Given the description of an element on the screen output the (x, y) to click on. 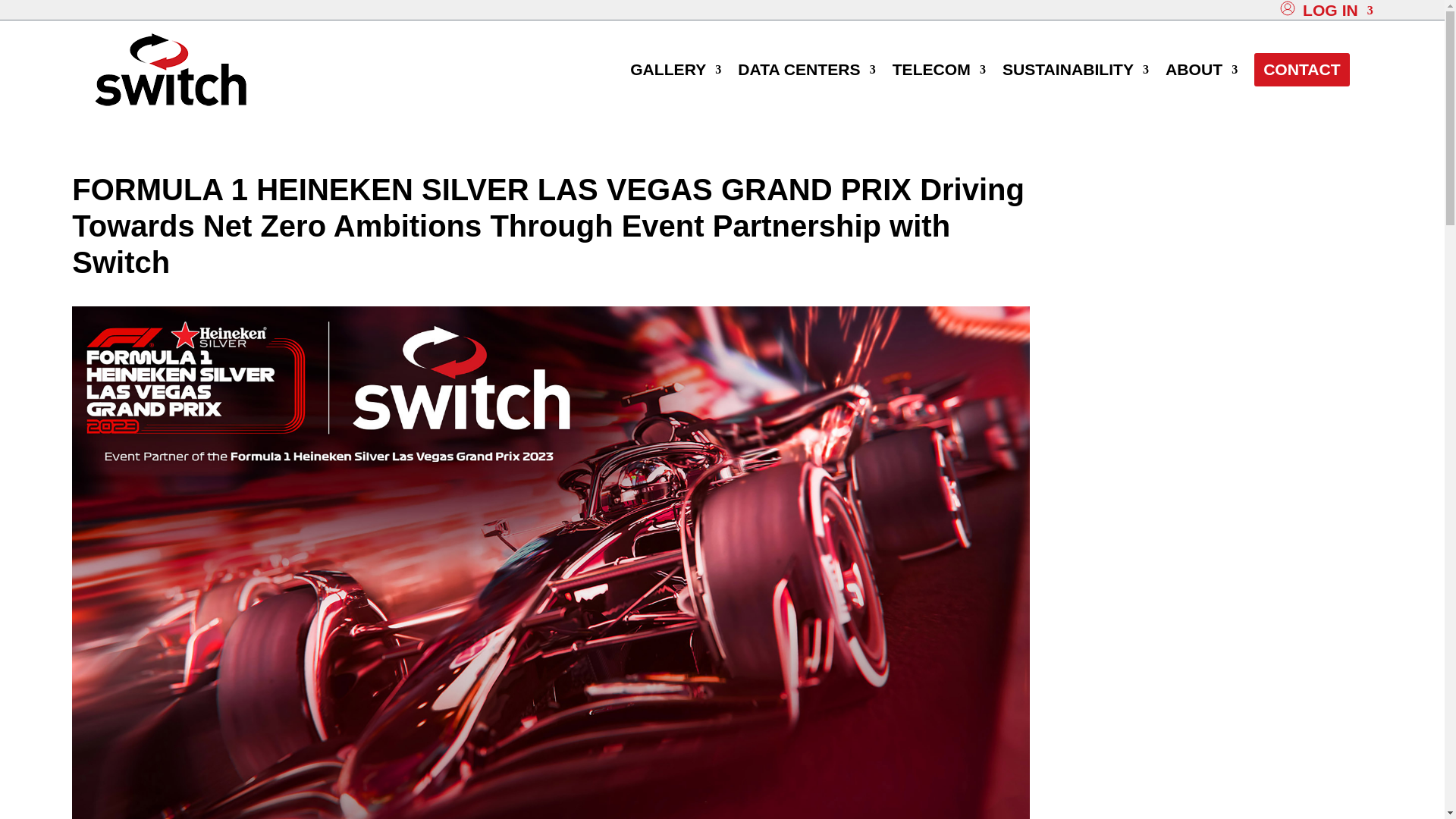
CONTACT (1301, 69)
TELECOM (938, 69)
ABOUT (1201, 69)
GALLERY (675, 69)
DATA CENTERS (806, 69)
SUSTAINABILITY (1075, 69)
LOG IN (1338, 10)
